Given the description of an element on the screen output the (x, y) to click on. 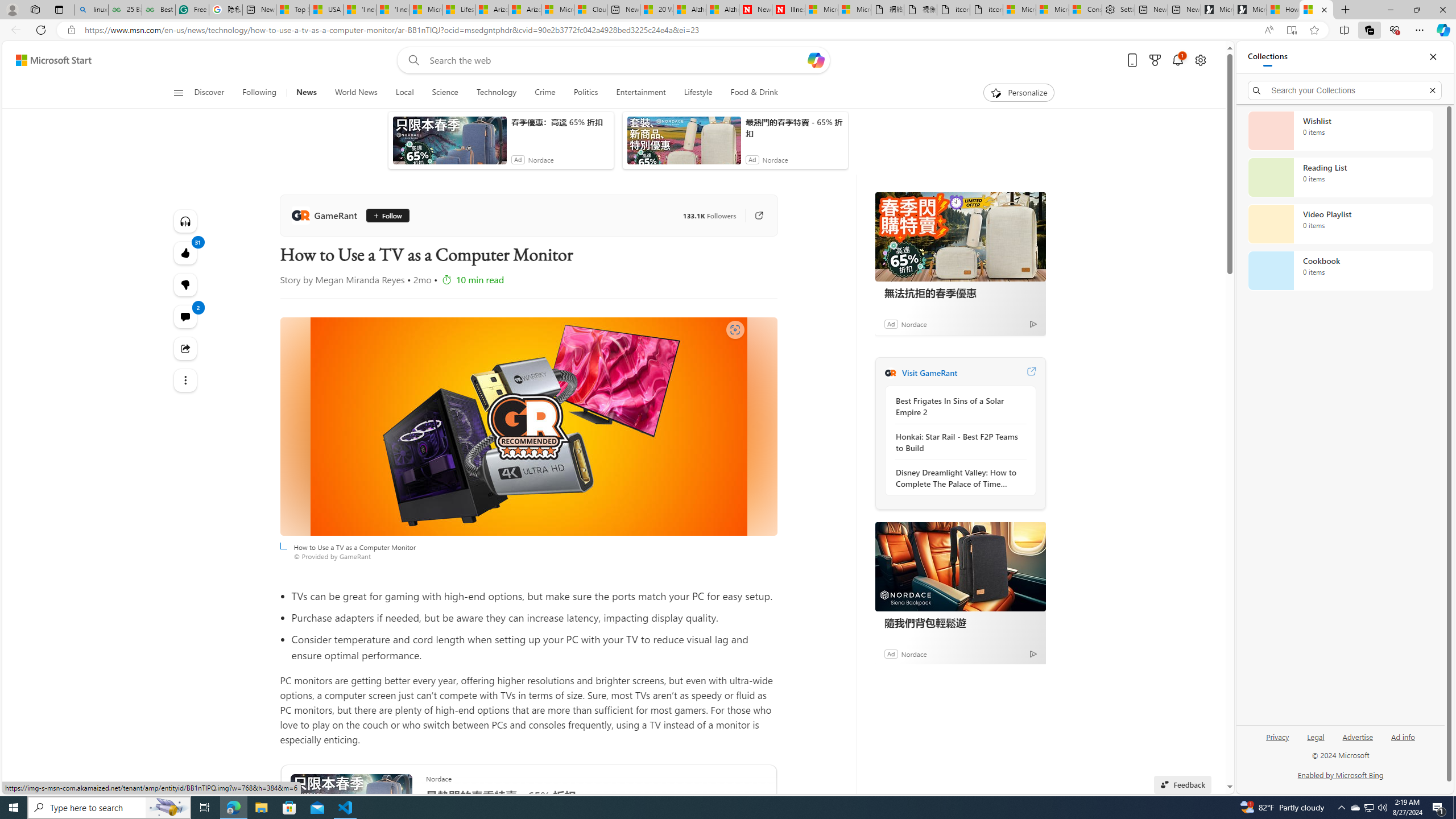
See more (184, 380)
Lifestyle - MSN (458, 9)
Politics (585, 92)
Technology (496, 92)
Open settings (1199, 60)
Lifestyle (698, 92)
Top Stories - MSN (292, 9)
